Given the description of an element on the screen output the (x, y) to click on. 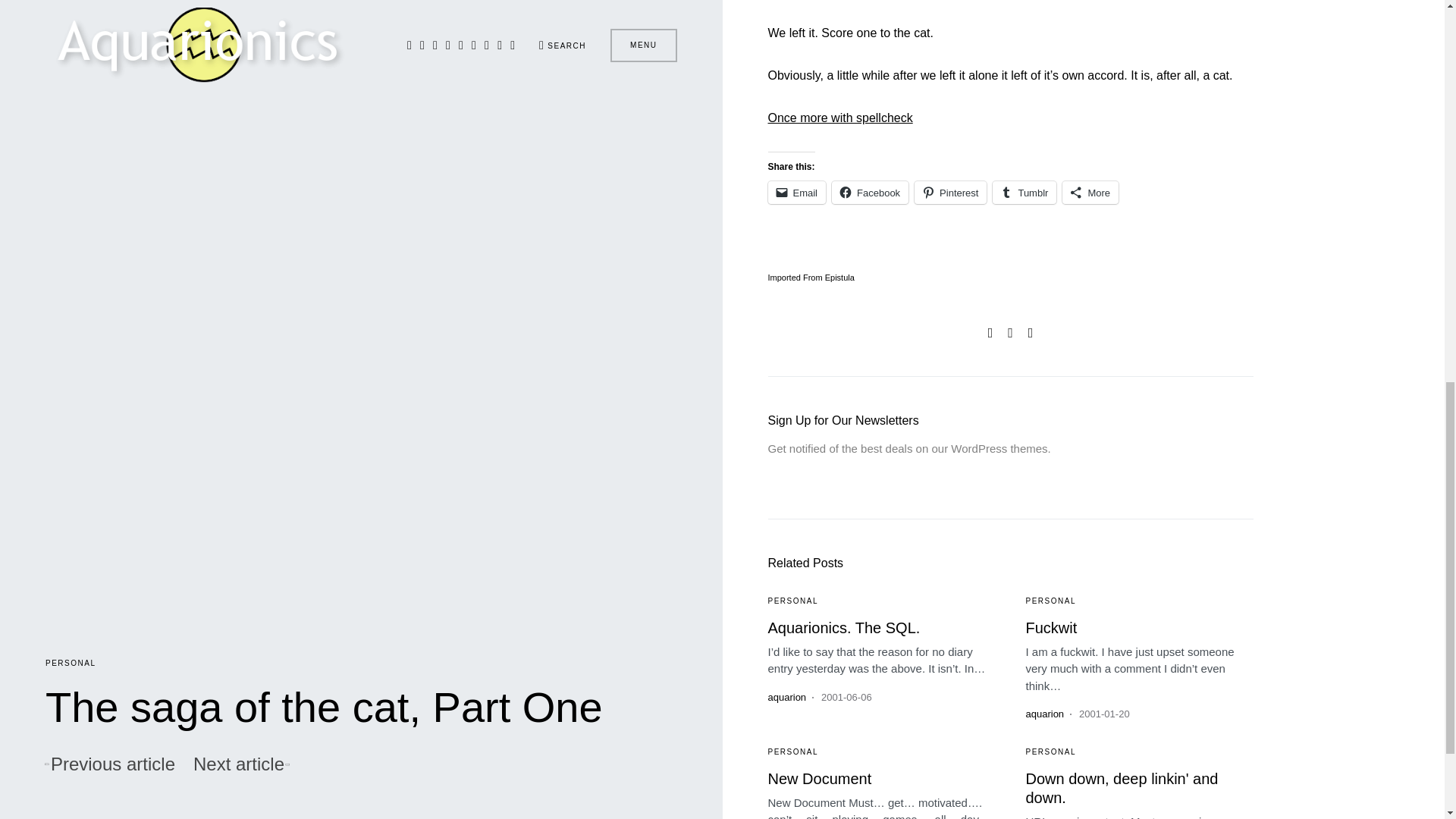
Click to share on Tumblr (1024, 191)
Click to share on Pinterest (950, 191)
View all posts by aquarion (786, 697)
Click to share on Facebook (869, 191)
Click to email a link to a friend (796, 191)
View all posts by aquarion (1044, 713)
